Given the description of an element on the screen output the (x, y) to click on. 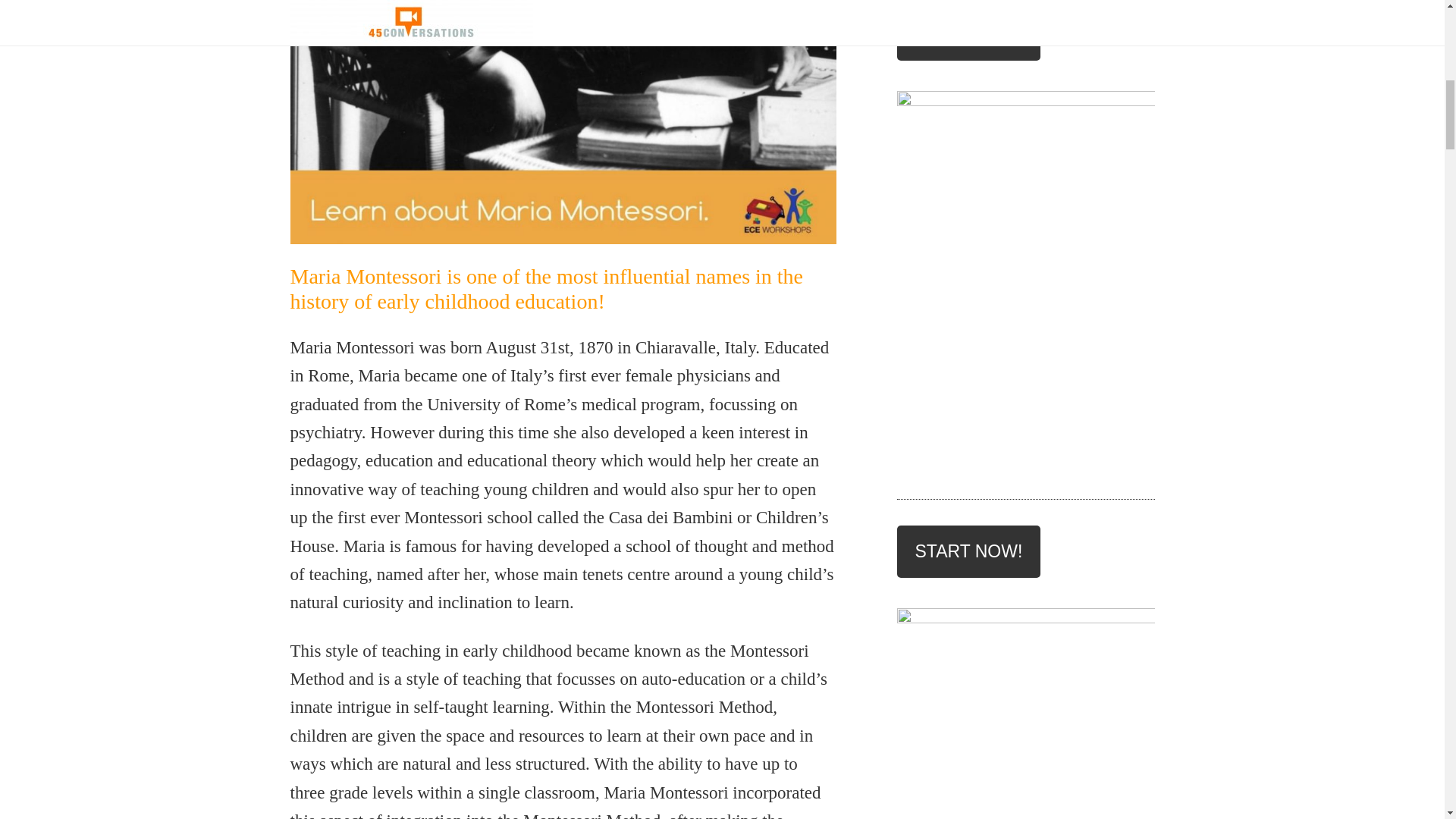
START NOW! (968, 34)
START NOW! (968, 551)
